Given the description of an element on the screen output the (x, y) to click on. 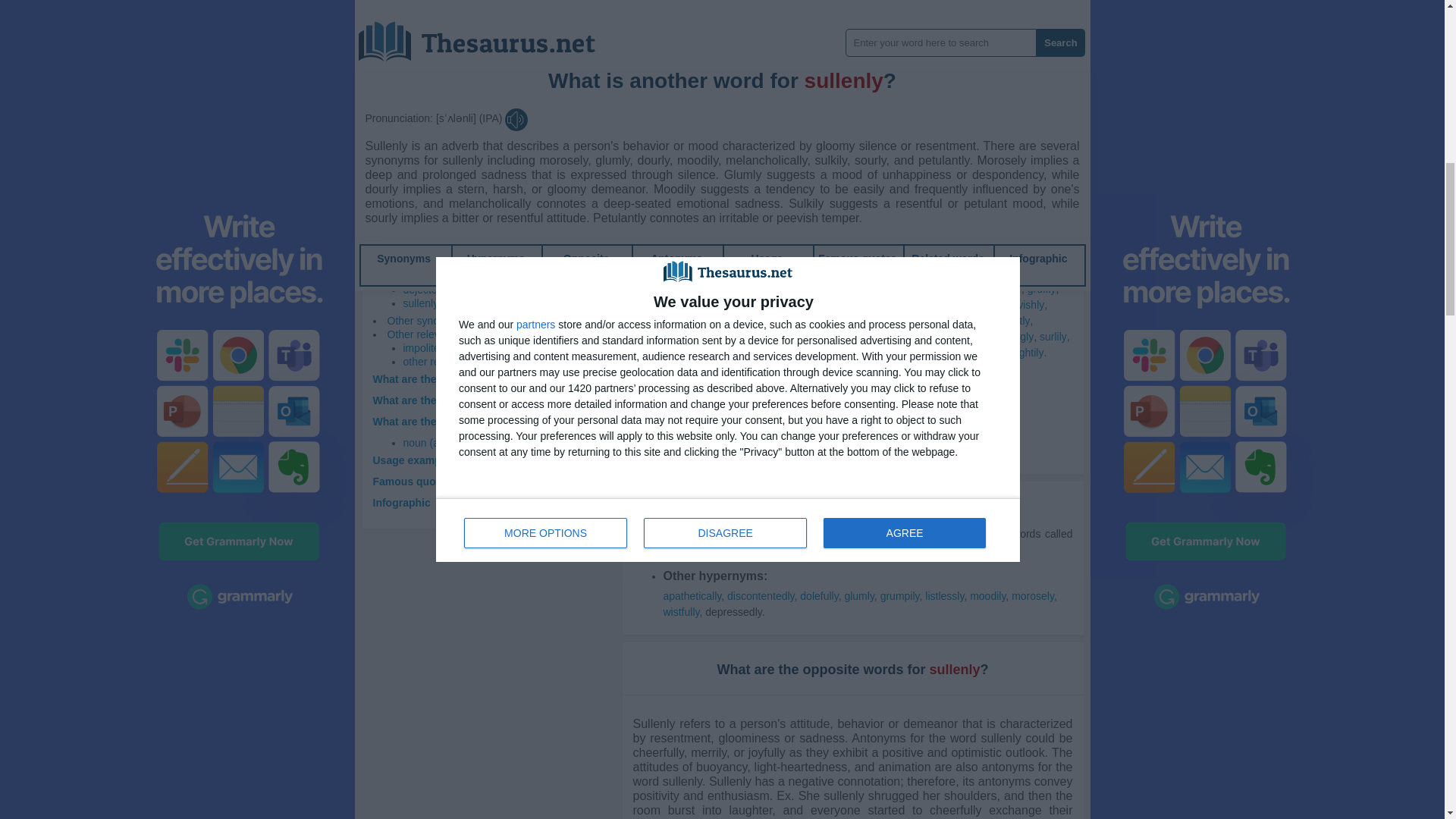
Synonyms for Sullenly (852, 44)
Synonyms for Sullenly (831, 60)
Synonyms for Sullenly (818, 28)
Synonyms for Sullenly (686, 44)
despairingly (876, 28)
despondently (942, 28)
Synonyms for Sullenly (684, 60)
Synonyms for Sullenly (766, 28)
Synonyms for Sullenly (1012, 28)
What are the opposite words for sullenly? (477, 399)
